Given the description of an element on the screen output the (x, y) to click on. 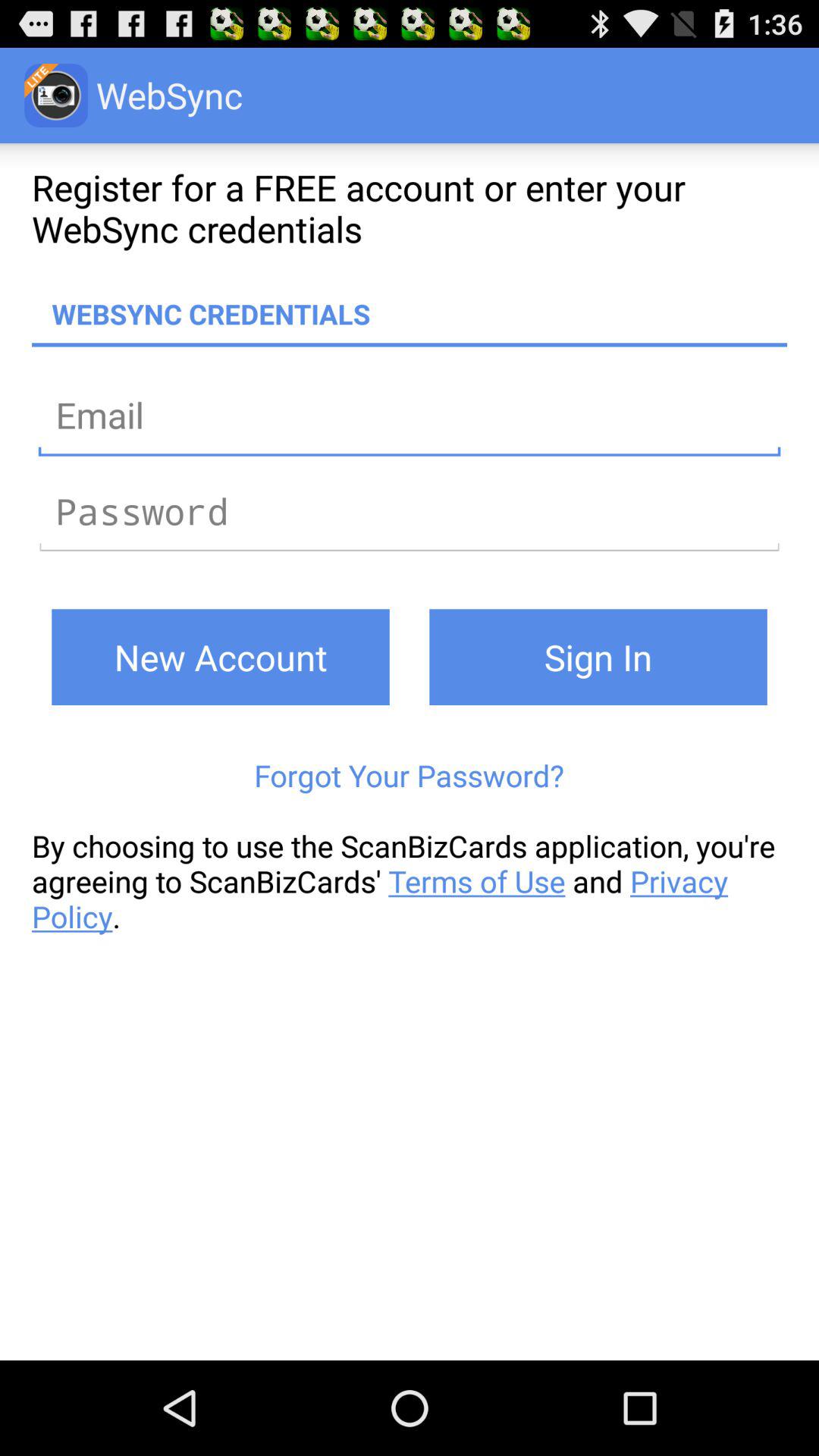
insert email id (409, 414)
